Given the description of an element on the screen output the (x, y) to click on. 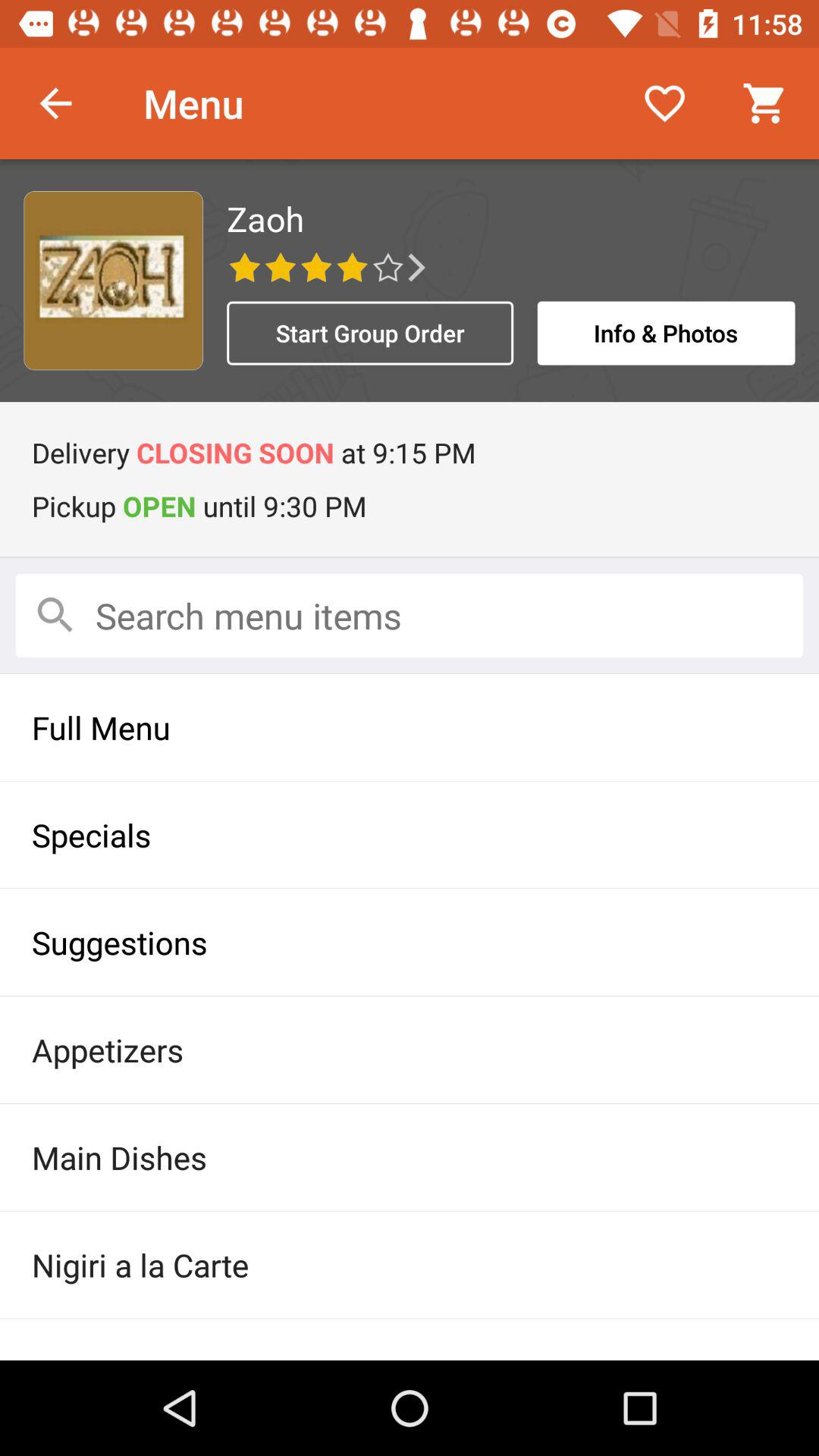
click icon above the appetizers item (409, 941)
